Given the description of an element on the screen output the (x, y) to click on. 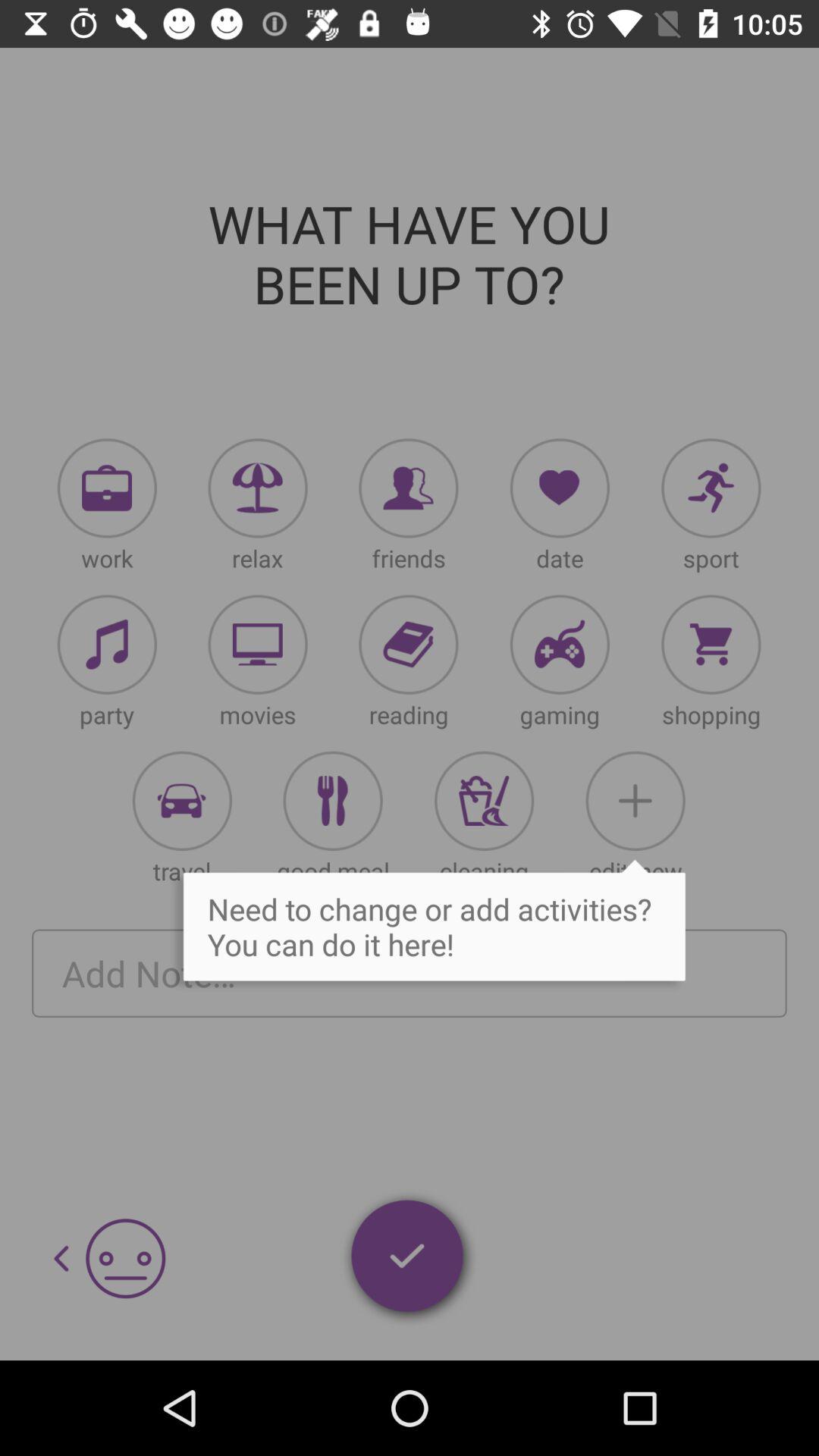
toggle activities option (484, 800)
